Given the description of an element on the screen output the (x, y) to click on. 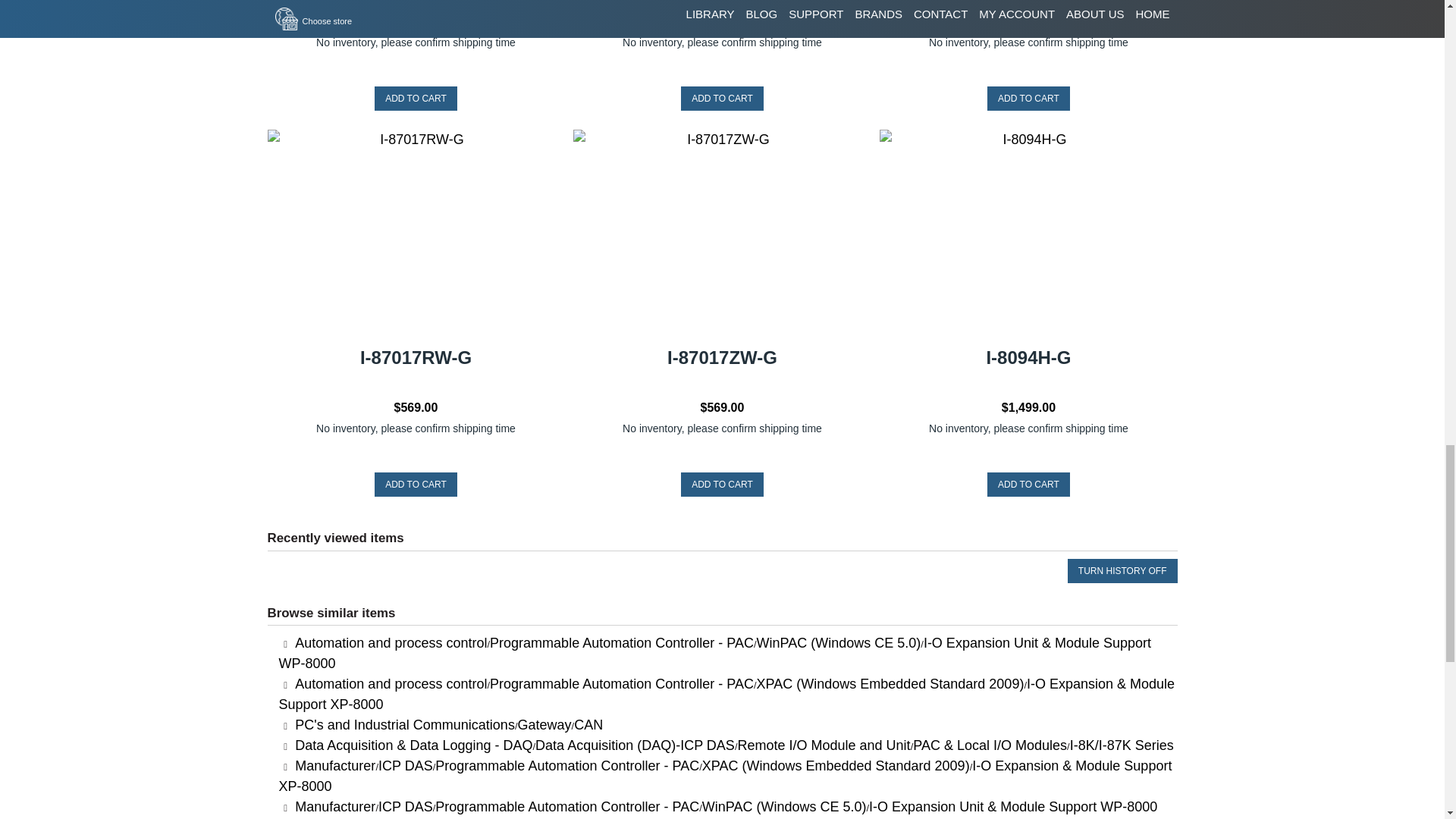
Add to cart (721, 484)
Add to cart (1028, 484)
Turn history off (1122, 570)
Add to cart (415, 484)
Add to cart (721, 98)
Add to cart (1028, 98)
Add to cart (415, 98)
